Given the description of an element on the screen output the (x, y) to click on. 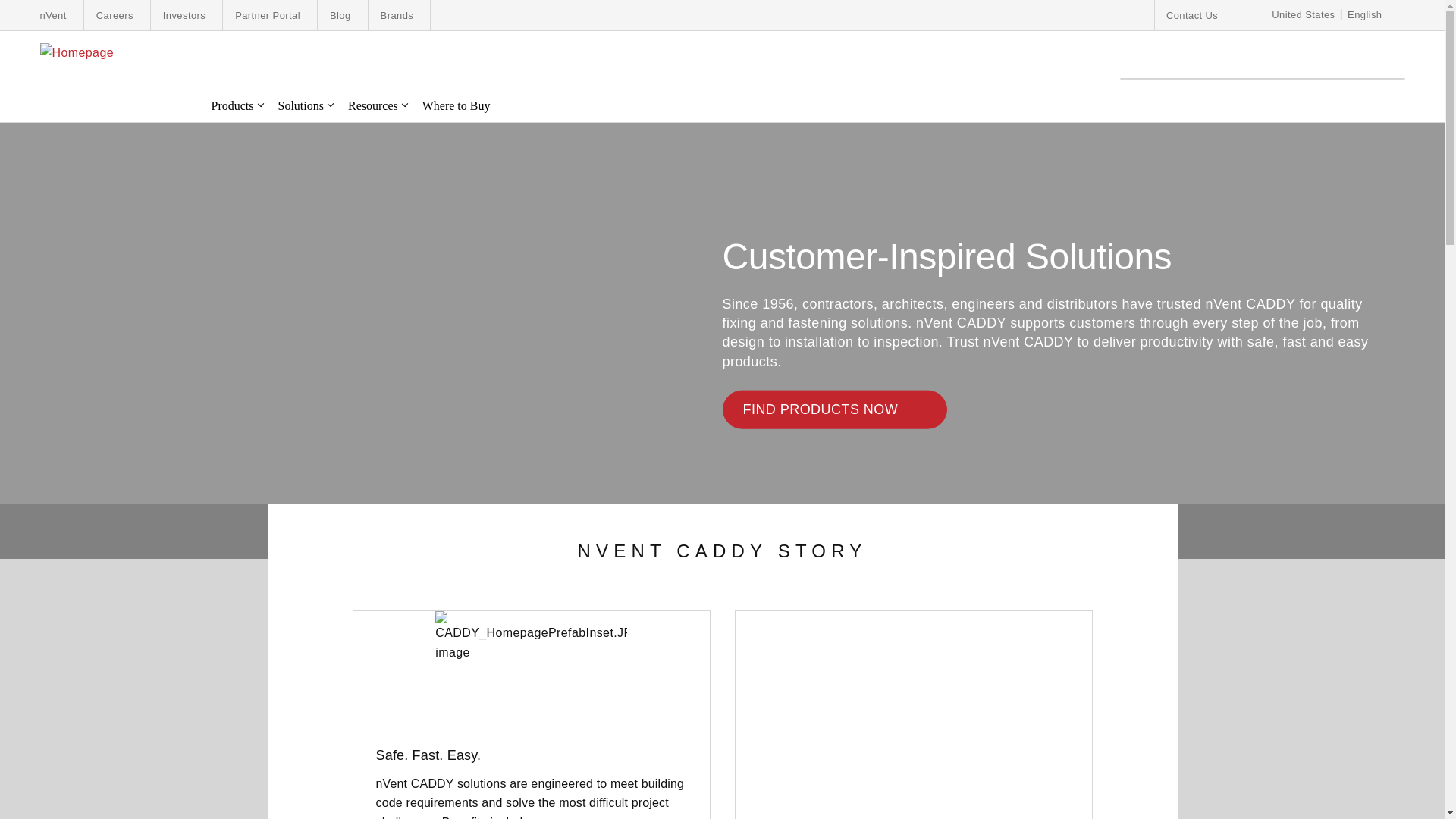
Careers (114, 15)
Brands (396, 15)
English (1369, 14)
Investors (184, 15)
Contact Us (1191, 15)
Partner Portal (266, 15)
